Given the description of an element on the screen output the (x, y) to click on. 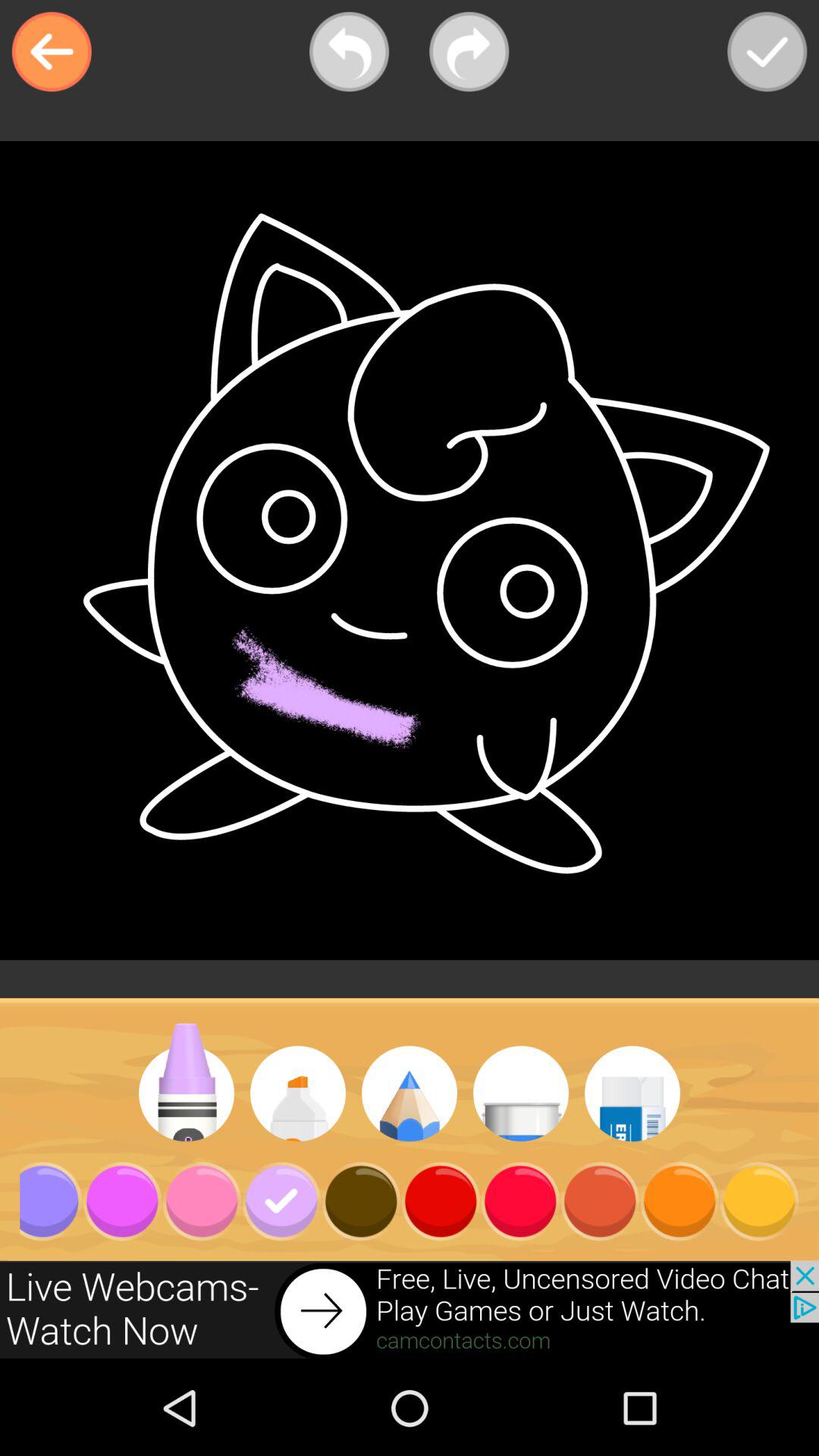
turn off icon at the top left corner (51, 51)
